Given the description of an element on the screen output the (x, y) to click on. 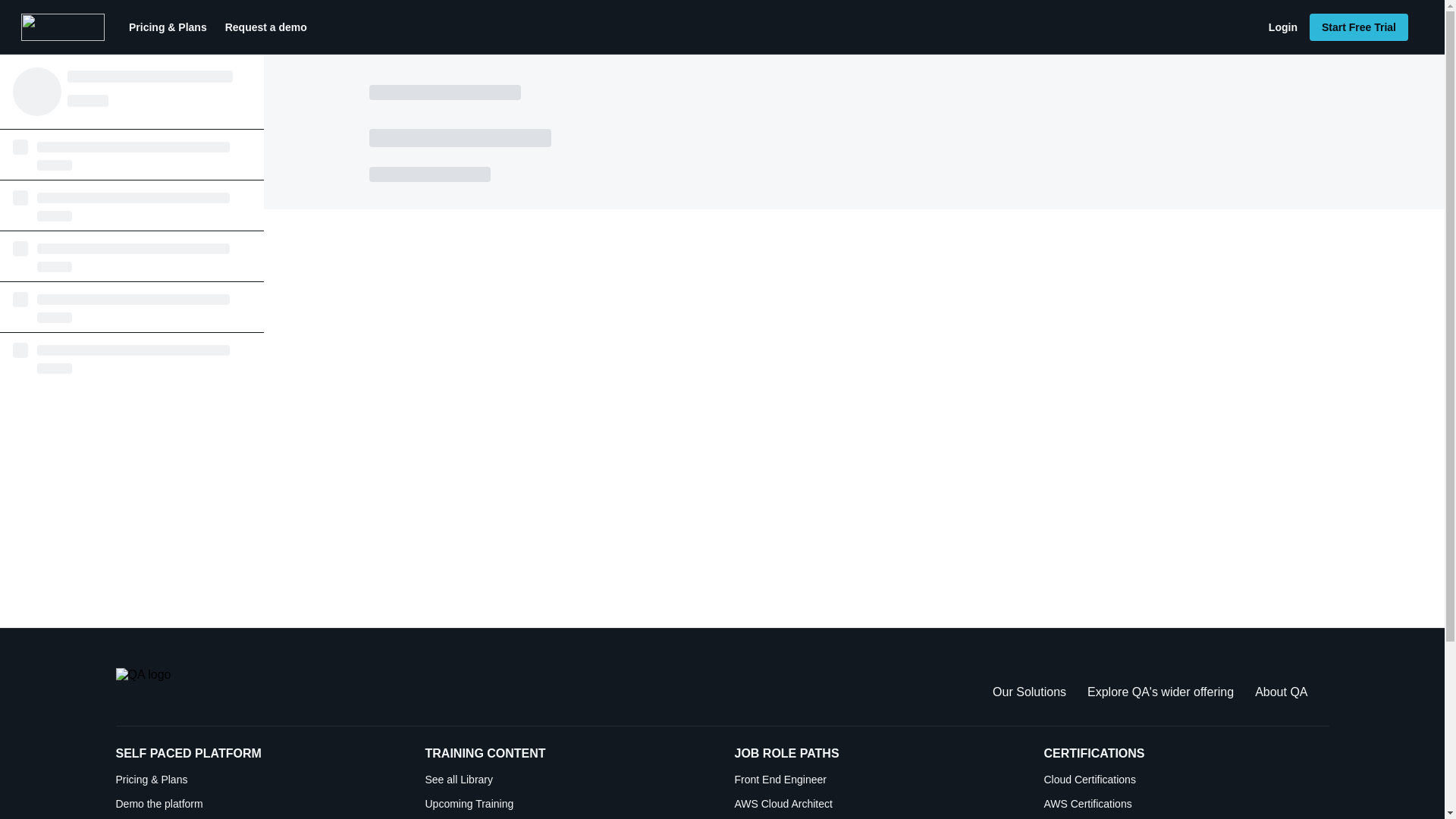
Our Solutions (1028, 692)
Explore QA's wider offering (1160, 692)
Front End Engineer (876, 779)
Request a demo (266, 26)
AWS Cloud Architect (876, 803)
Upcoming Training (567, 803)
About QA (1281, 692)
AWS Certifications (1185, 803)
Login (1282, 26)
Cloud Certifications (1185, 779)
Start Free Trial (1357, 26)
Demo the platform (257, 803)
See all Library (567, 779)
